Given the description of an element on the screen output the (x, y) to click on. 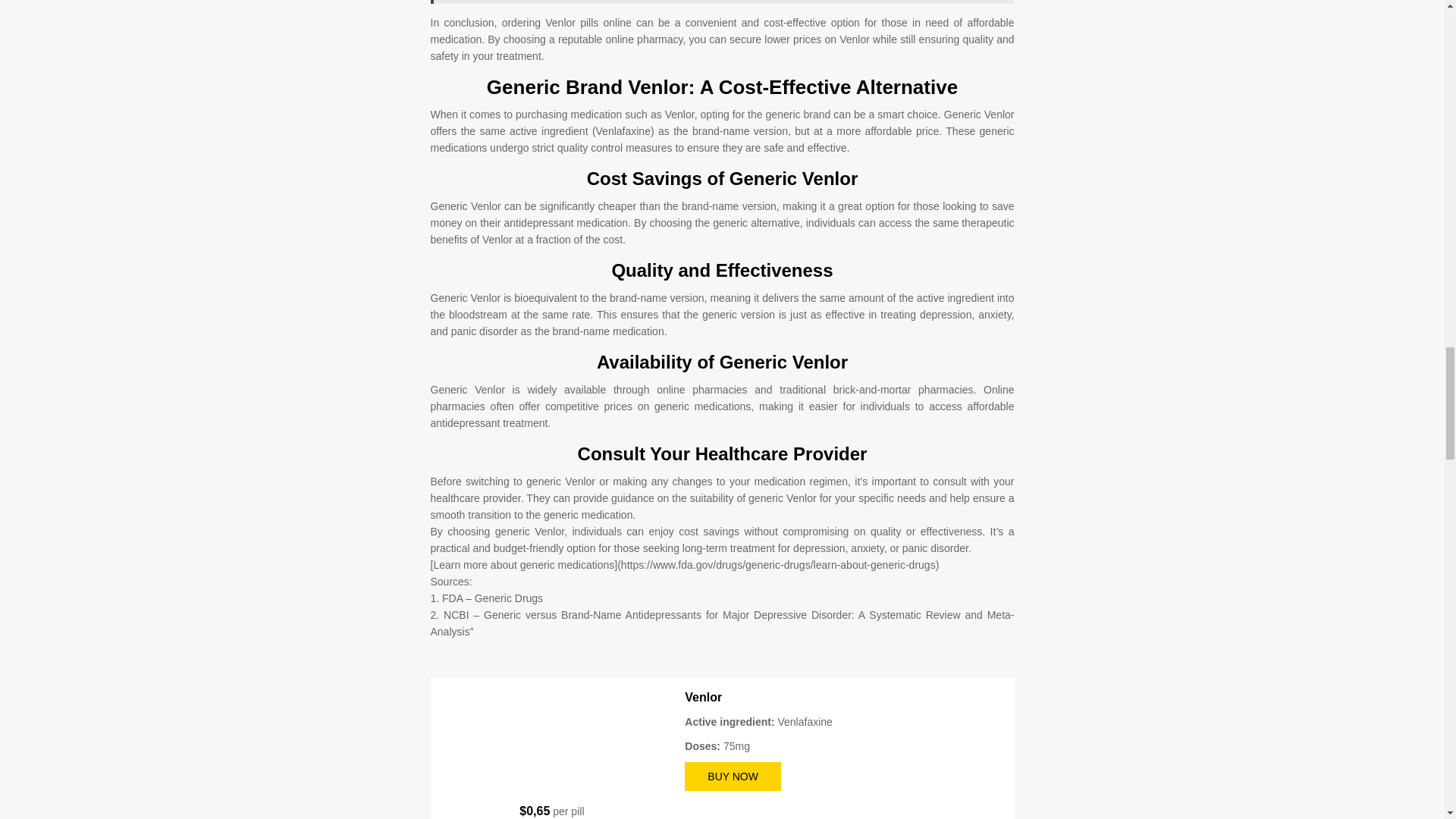
BUY NOW (732, 776)
Buy Now (732, 776)
